Given the description of an element on the screen output the (x, y) to click on. 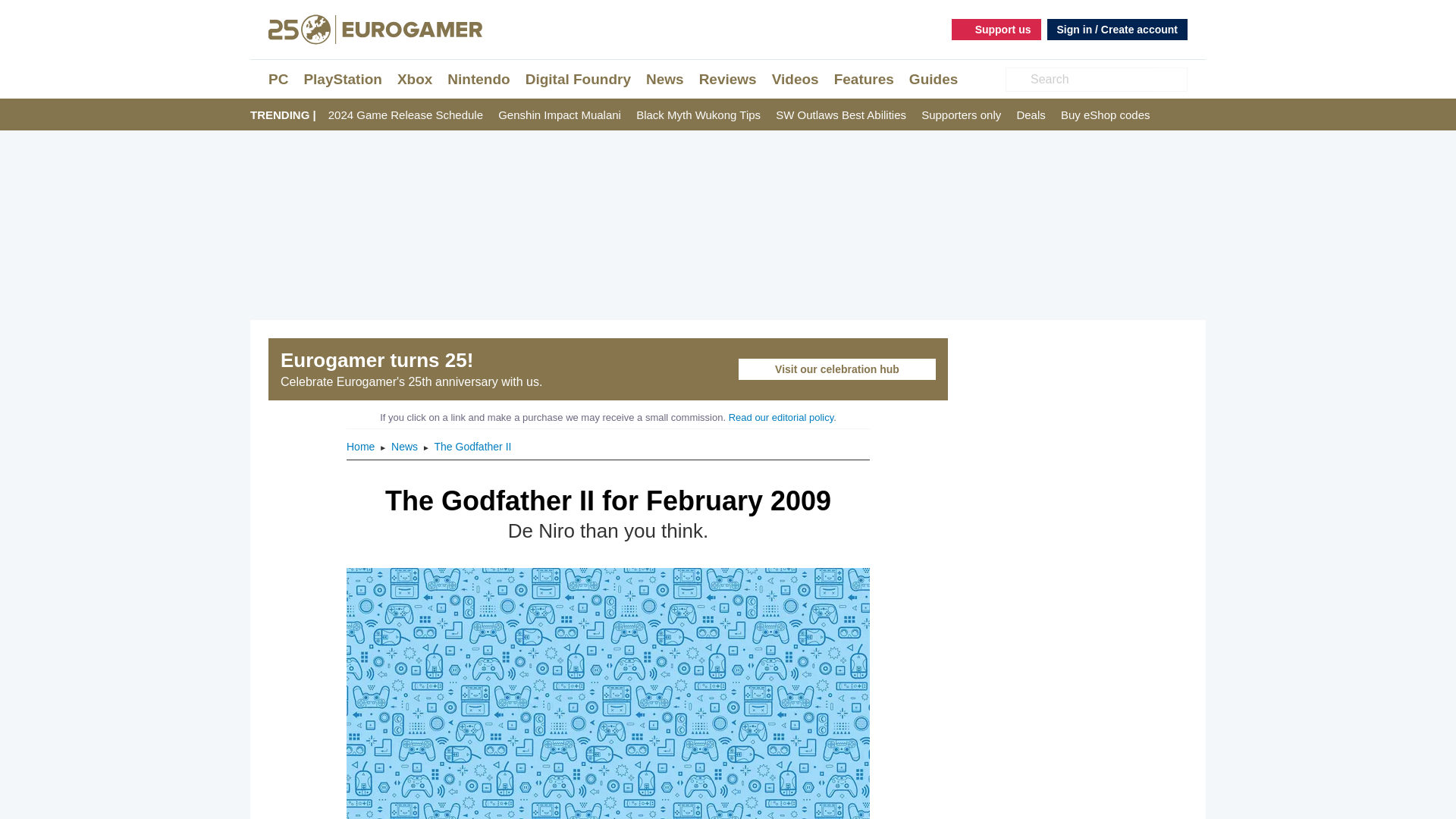
Nintendo (477, 78)
PlayStation (341, 78)
The Godfather II (472, 446)
The Godfather II (472, 446)
Supporters only (961, 114)
Buy eShop codes (1105, 114)
SW Outlaws Best Abilities (840, 114)
News (665, 78)
2024 Game Release Schedule (406, 114)
Deals (1030, 114)
